Given the description of an element on the screen output the (x, y) to click on. 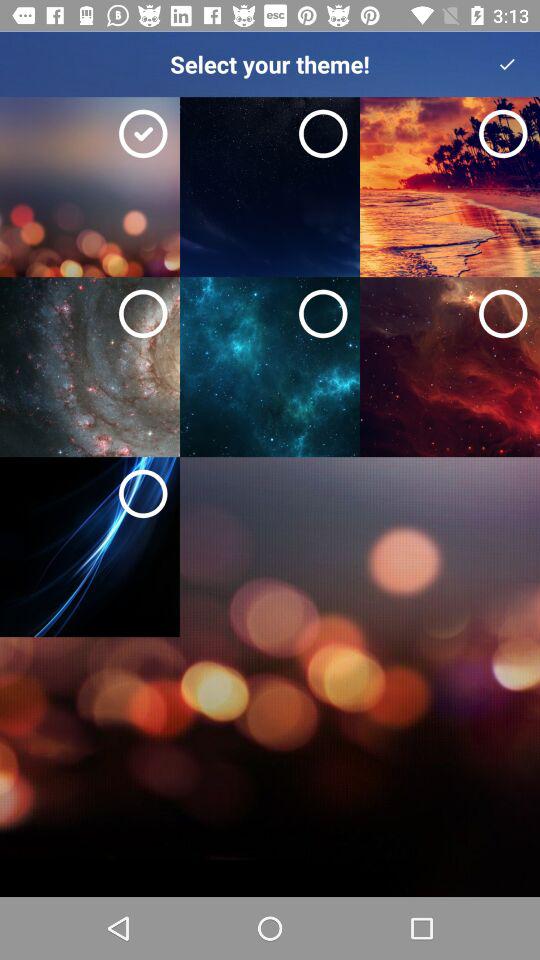
press icon next to select your theme! item (507, 64)
